Given the description of an element on the screen output the (x, y) to click on. 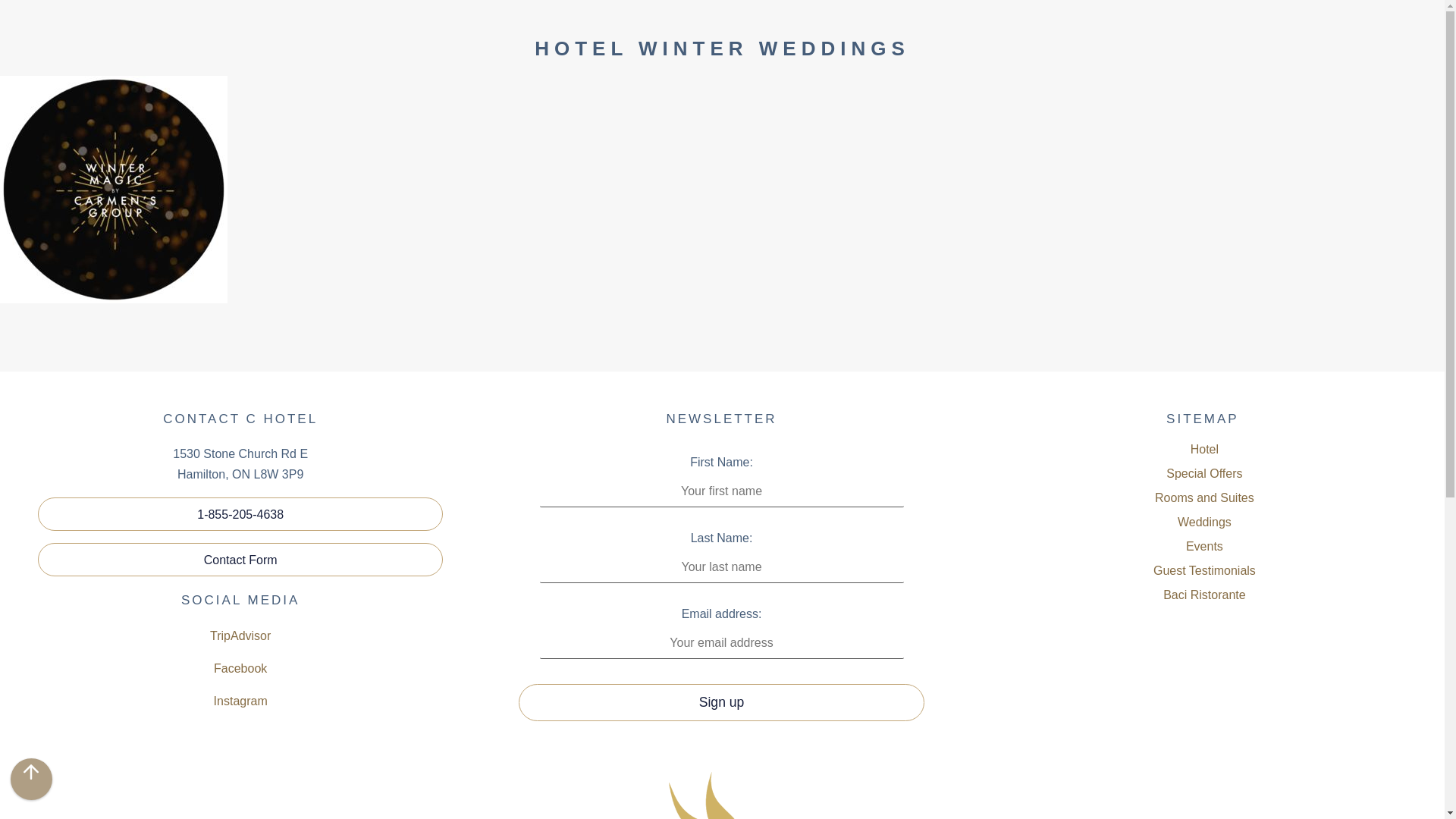
Facebook (240, 667)
Guest Testimonials (1204, 570)
Hotel (1204, 449)
Sign up (720, 701)
Contact Form (239, 559)
Weddings (1204, 522)
TripAdvisor (239, 635)
Special Offers (1204, 473)
1-855-205-4638 (239, 513)
Sign up (720, 701)
